Given the description of an element on the screen output the (x, y) to click on. 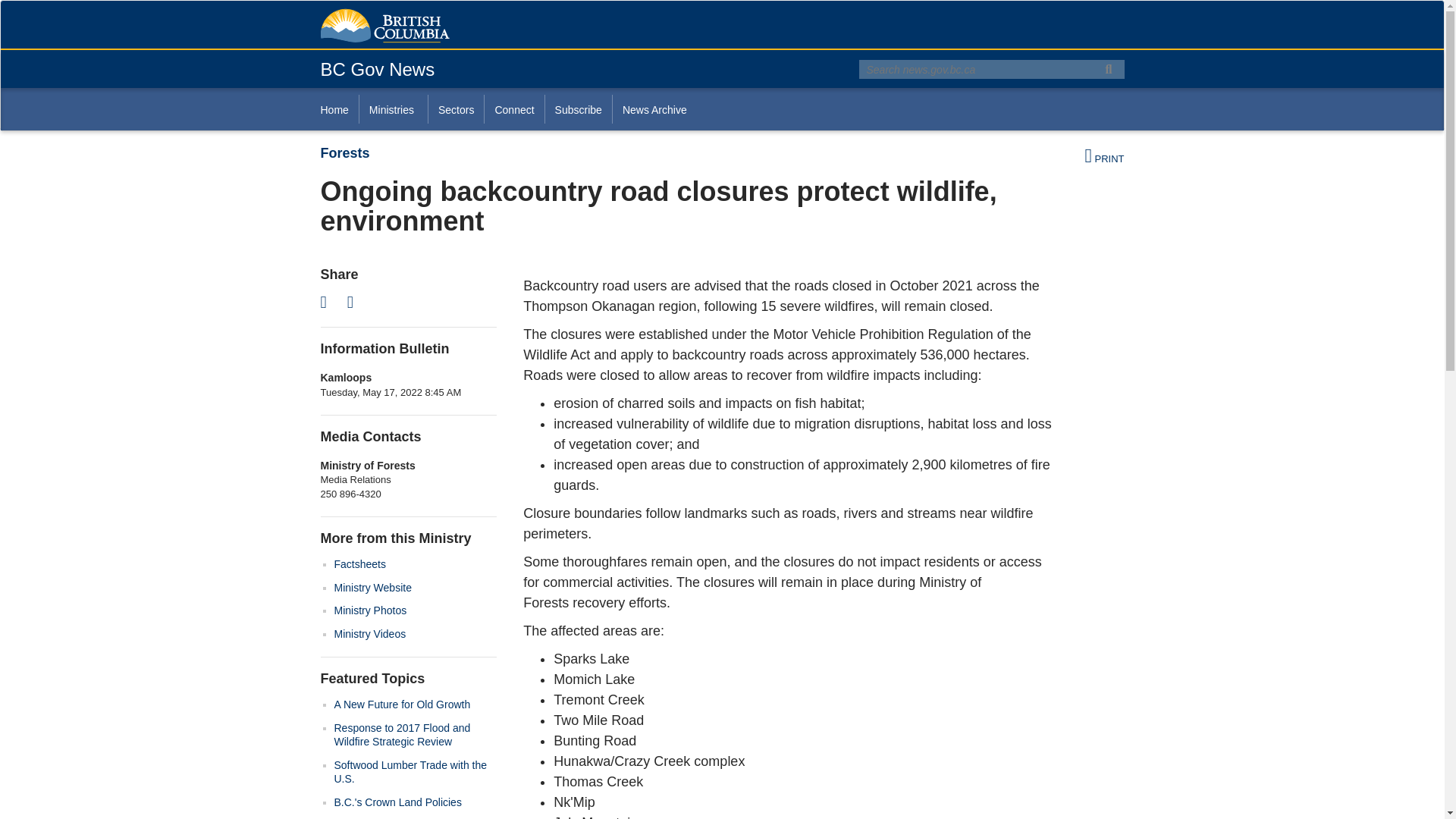
Subscribe (577, 109)
Connect (513, 109)
BC Gov News (376, 68)
Ministries (393, 109)
Home (339, 109)
Sectors (455, 109)
News Archive (654, 109)
Government of B.C. (384, 25)
